Given the description of an element on the screen output the (x, y) to click on. 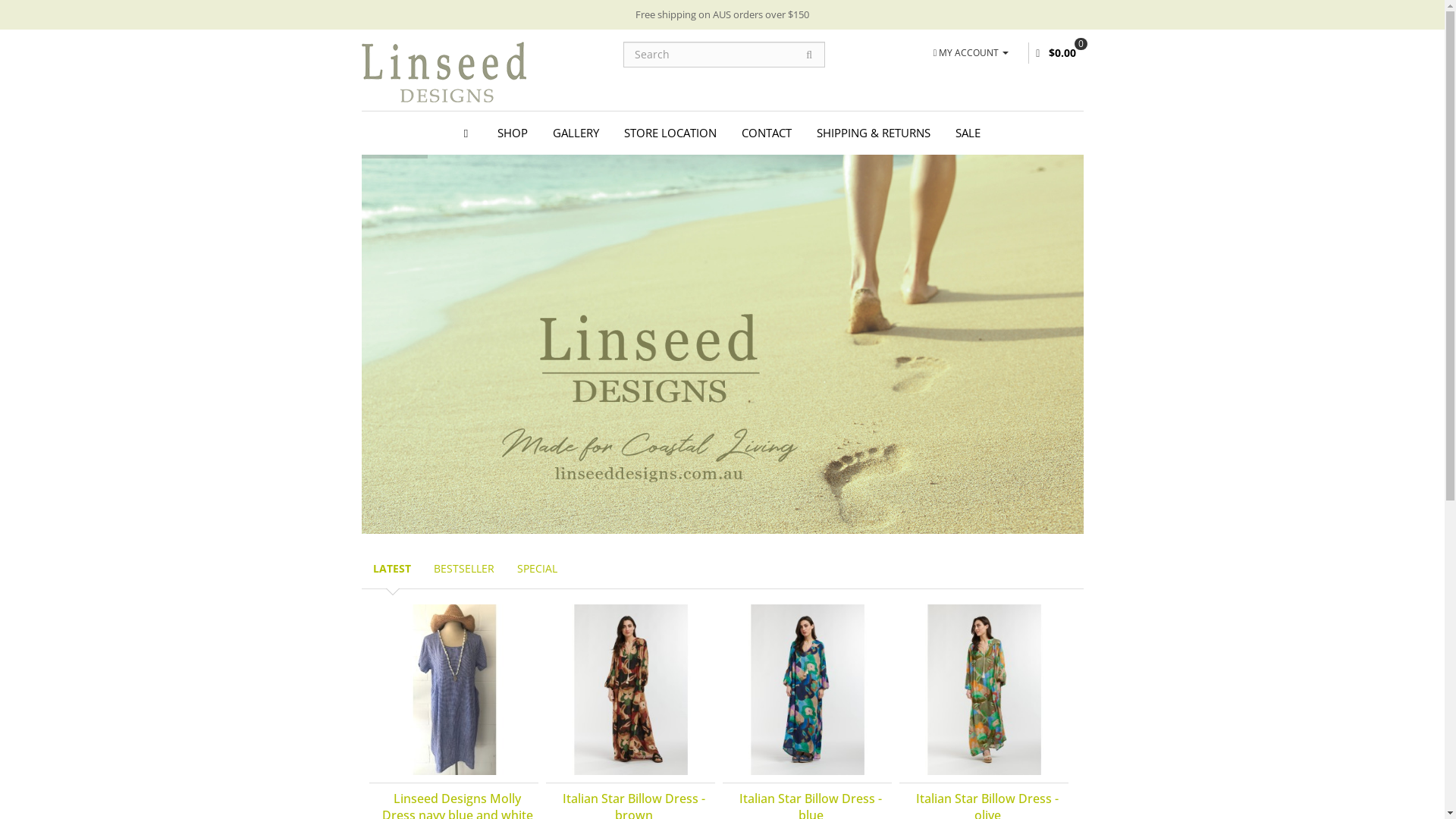
LATEST Element type: text (390, 568)
BESTSELLER Element type: text (463, 568)
Linseed Designs Element type: hover (442, 71)
 Italian Star Billow Dress - blue Element type: hover (806, 689)
SPECIAL Element type: text (536, 568)
 Italian Star Billow Dress - olive Element type: hover (984, 689)
CONTACT Element type: text (766, 132)
MY ACCOUNT Element type: text (971, 52)
0
$0.00 Element type: text (1055, 52)
Linseed Designs Molly Dress navy blue and white micro check Element type: hover (453, 689)
SALE Element type: text (967, 132)
SHIPPING & RETURNS Element type: text (873, 132)
GALLERY Element type: text (575, 132)
Home Element type: hover (467, 132)
STORE LOCATION Element type: text (670, 132)
SHOP Element type: text (512, 132)
 Italian Star Billow Dress - brown Element type: hover (631, 689)
